Given the description of an element on the screen output the (x, y) to click on. 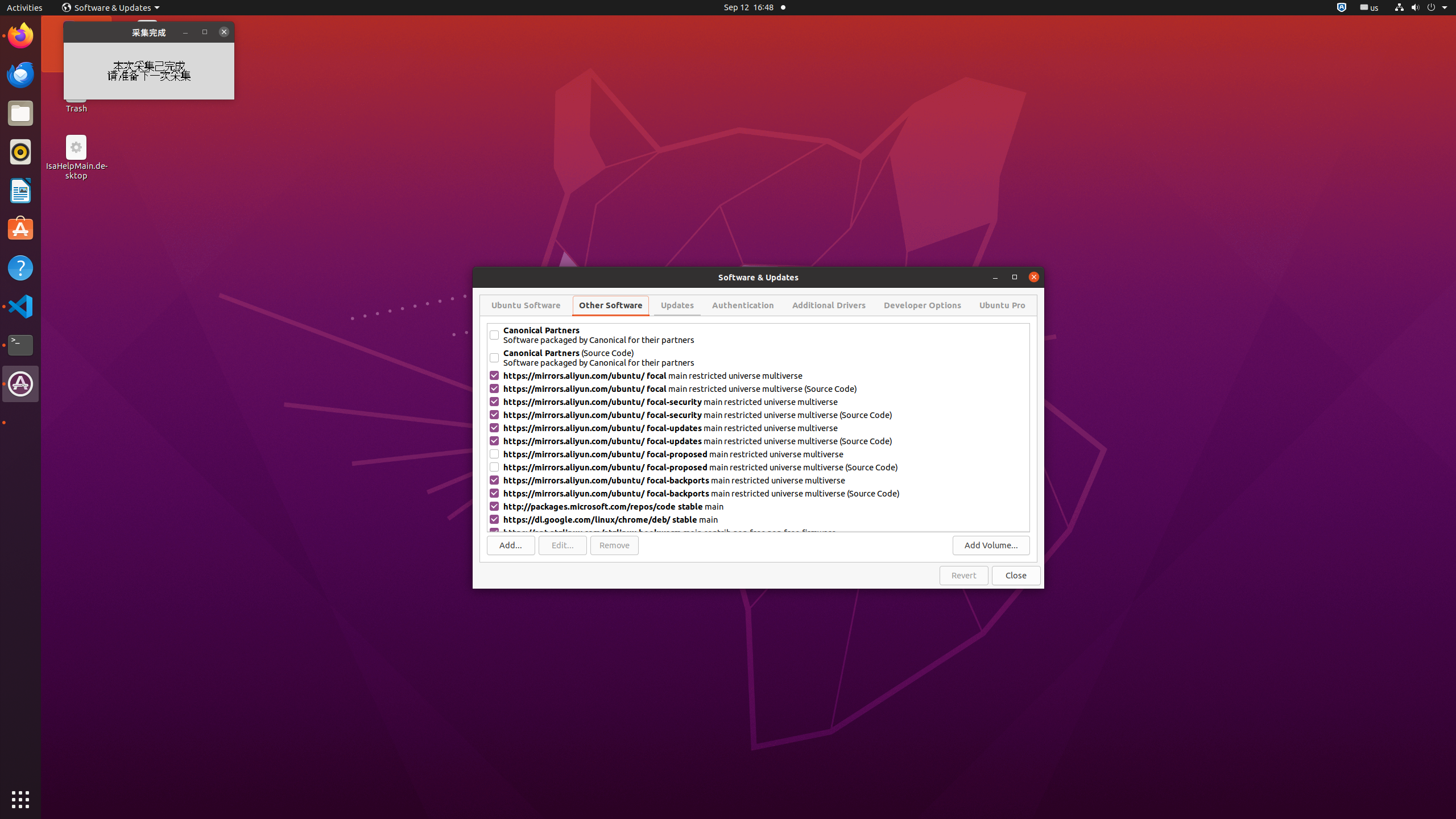
Add Volume... Element type: push-button (991, 545)
Add... Element type: push-button (510, 545)
luyi1 Element type: label (75, 50)
